Given the description of an element on the screen output the (x, y) to click on. 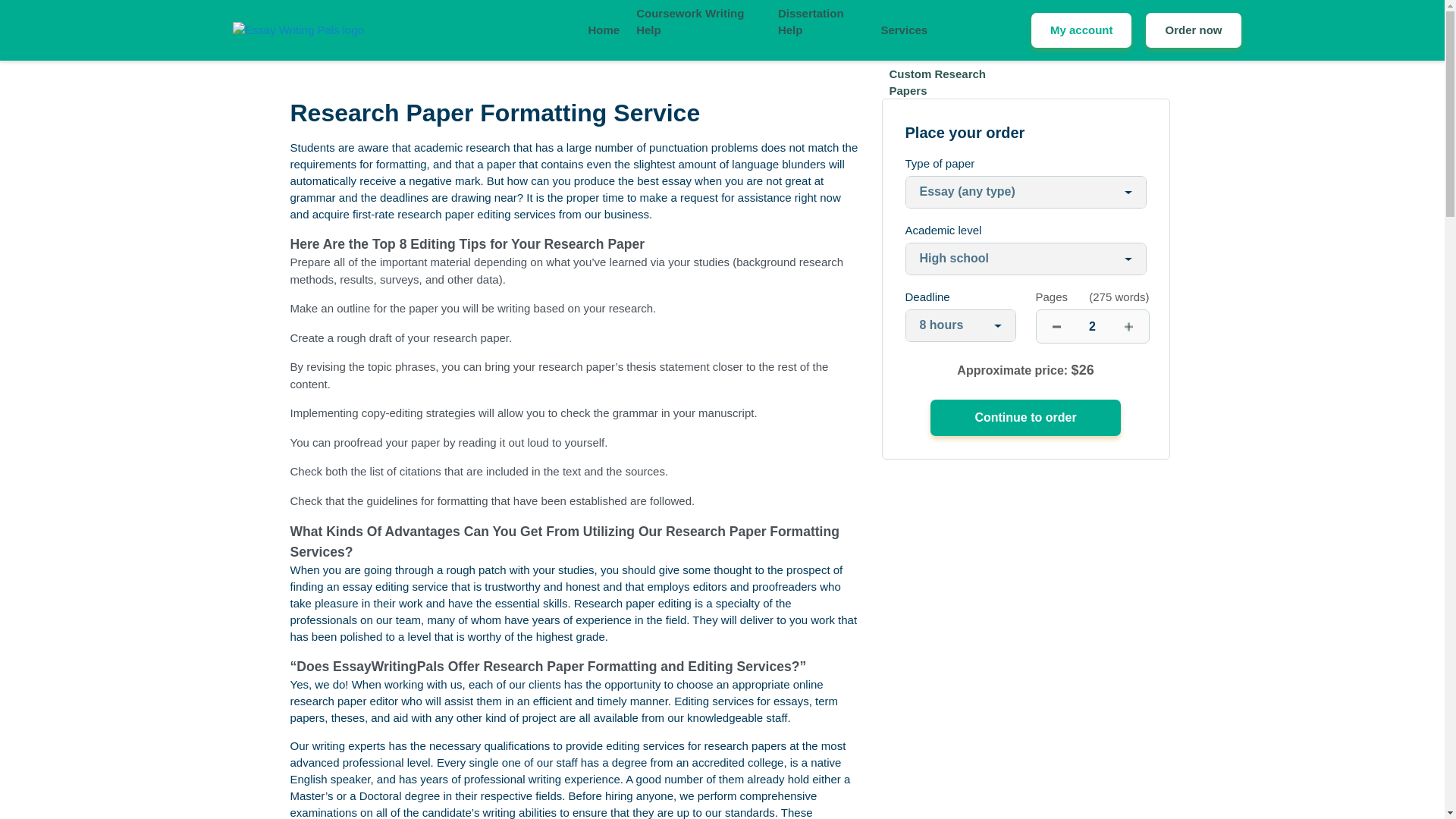
Continue to order (1024, 417)
Custom Research Papers (951, 82)
My account (1081, 30)
2 (1091, 326)
Continue to order (1024, 417)
Order now (1192, 30)
Coursework Writing Help (698, 21)
Services (903, 30)
Home (604, 30)
Dissertation Help (820, 21)
